Given the description of an element on the screen output the (x, y) to click on. 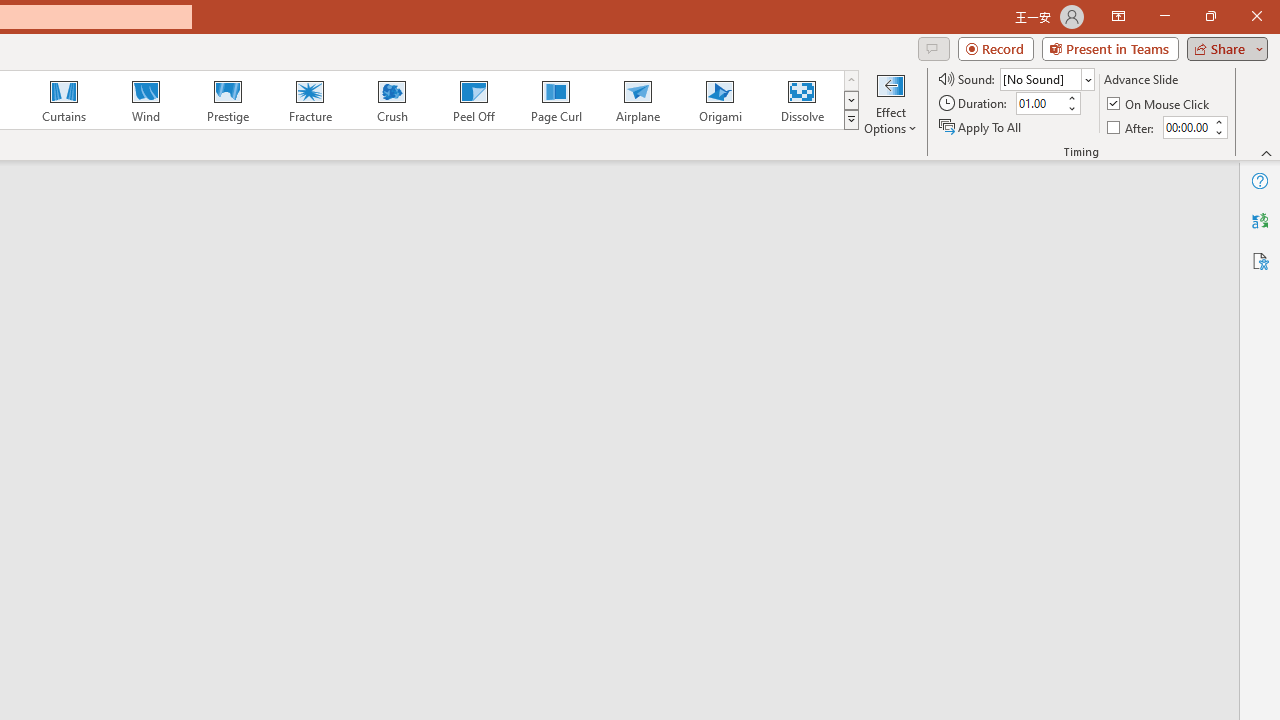
Apply To All (981, 126)
Airplane (637, 100)
